Given the description of an element on the screen output the (x, y) to click on. 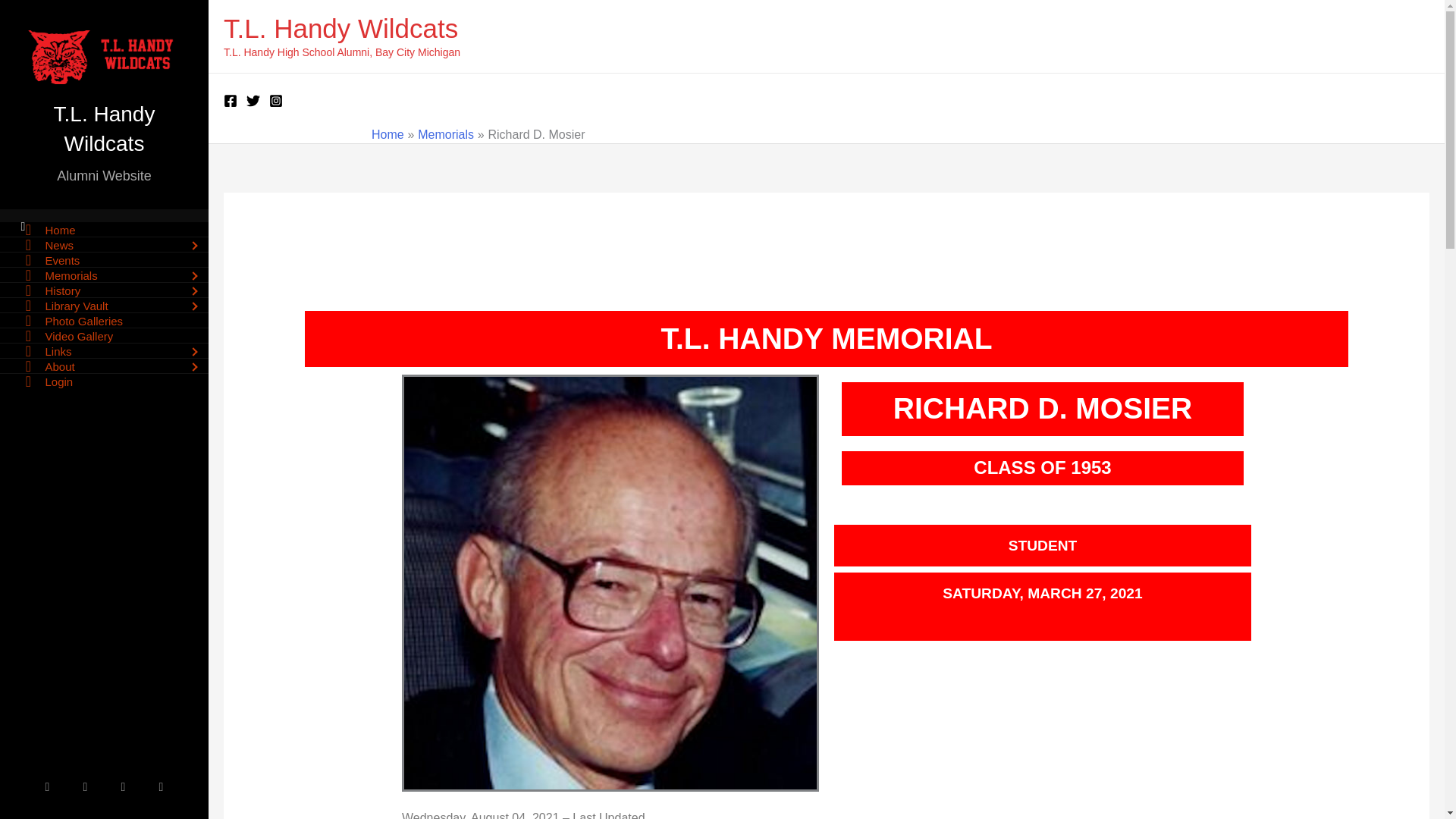
News (104, 244)
Login (104, 381)
Events (104, 259)
Video Gallery (104, 335)
T.L. Handy Wildcats (341, 28)
History (104, 290)
Photo Galleries (104, 320)
About (104, 365)
Library Vault (104, 305)
Links (104, 350)
Home (104, 229)
Memorials (104, 274)
Search (40, 24)
